Given the description of an element on the screen output the (x, y) to click on. 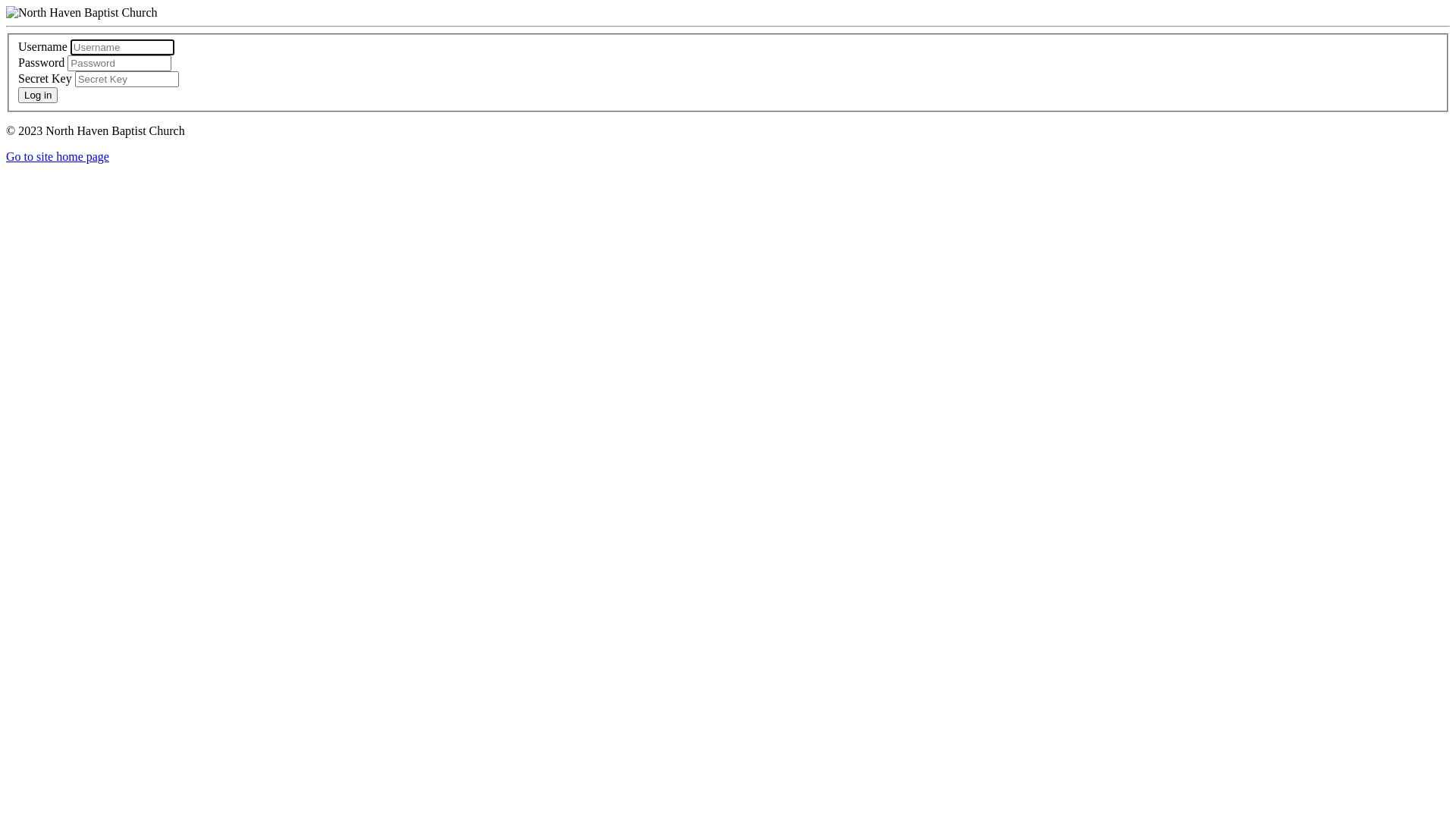
Log in Element type: text (37, 95)
Go to site home page Element type: text (57, 156)
